Given the description of an element on the screen output the (x, y) to click on. 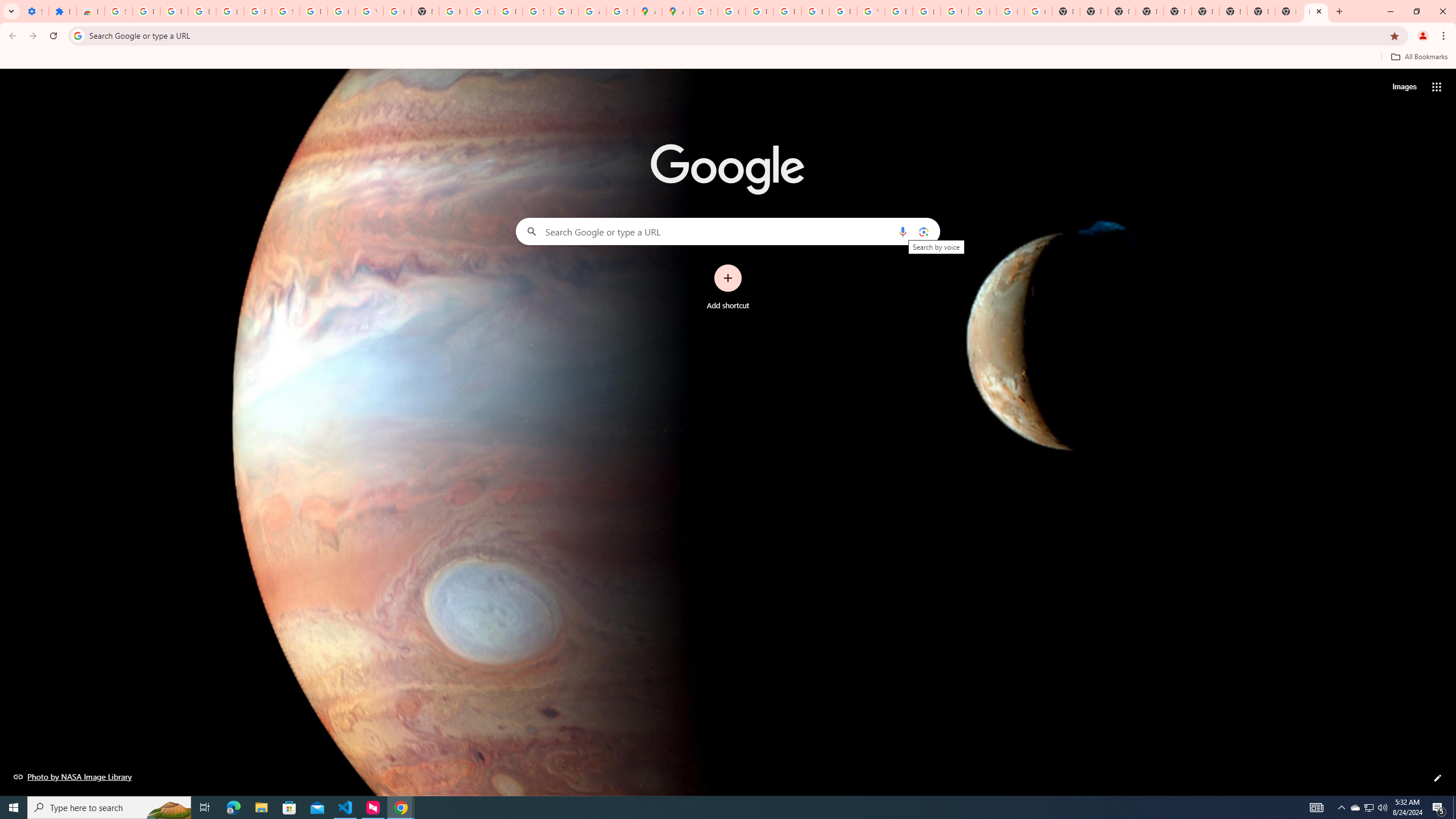
Google Account (341, 11)
